Given the description of an element on the screen output the (x, y) to click on. 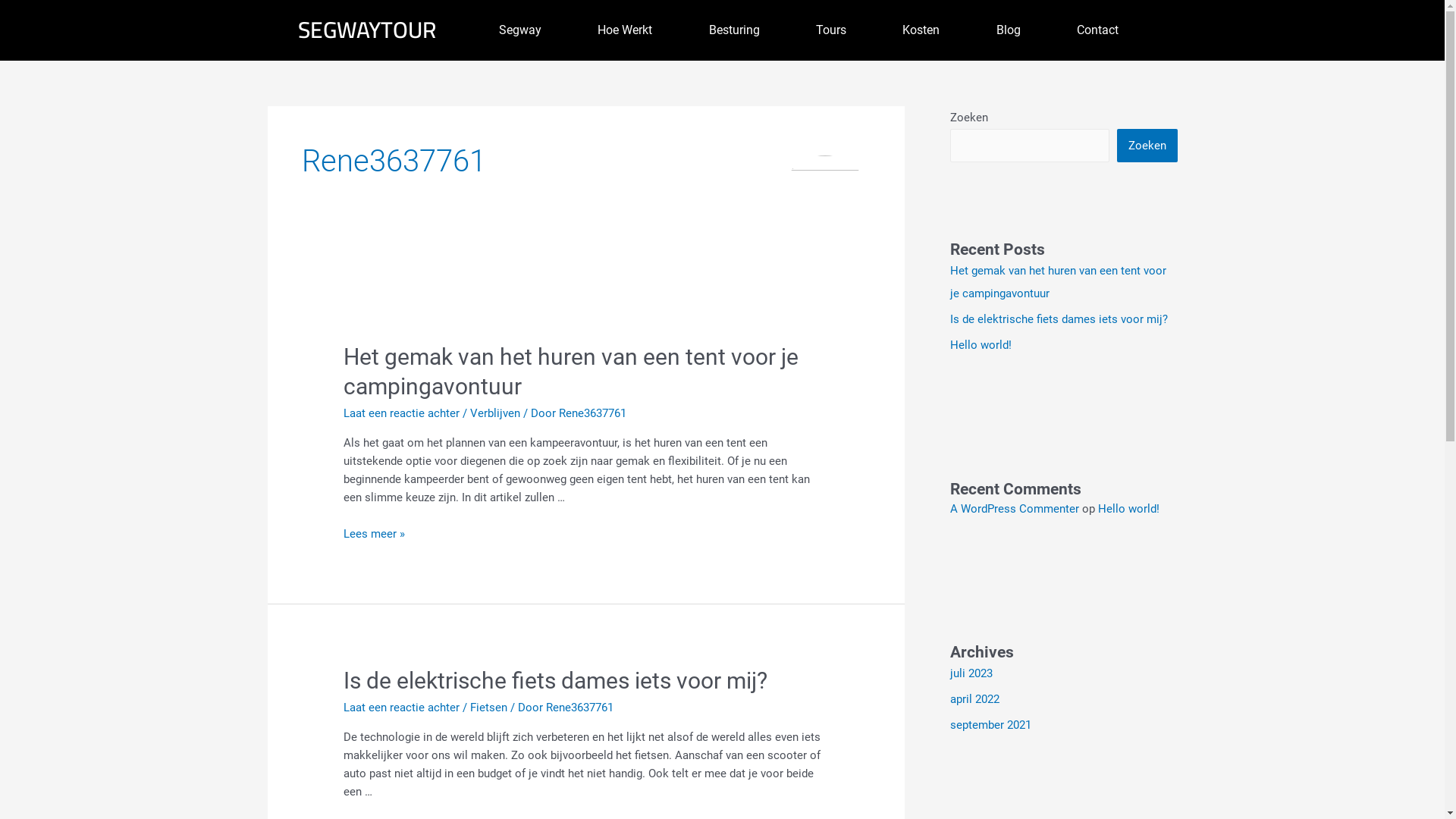
september 2021 Element type: text (989, 724)
Blog Element type: text (1008, 29)
SEGWAYTOUR Element type: text (366, 29)
Het gemak van het huren van een tent voor je campingavontuur Element type: text (570, 371)
Is de elektrische fiets dames iets voor mij? Element type: text (555, 680)
Hoe Werkt Element type: text (624, 29)
Tours Element type: text (830, 29)
Zoeken Element type: text (1146, 145)
Fietsen Element type: text (488, 707)
A WordPress Commenter Element type: text (1013, 508)
Laat een reactie achter Element type: text (401, 707)
Rene3637761 Element type: text (579, 707)
juli 2023 Element type: text (970, 673)
Contact Element type: text (1097, 29)
Verblijven Element type: text (495, 413)
Hello world! Element type: text (1128, 508)
Rene3637761 Element type: text (592, 413)
Hello world! Element type: text (979, 344)
Besturing Element type: text (733, 29)
Is de elektrische fiets dames iets voor mij? Element type: text (1058, 319)
Kosten Element type: text (920, 29)
april 2022 Element type: text (973, 699)
Laat een reactie achter Element type: text (401, 413)
Segway Element type: text (519, 29)
Het gemak van het huren van een tent voor je campingavontuur Element type: text (1057, 281)
